Given the description of an element on the screen output the (x, y) to click on. 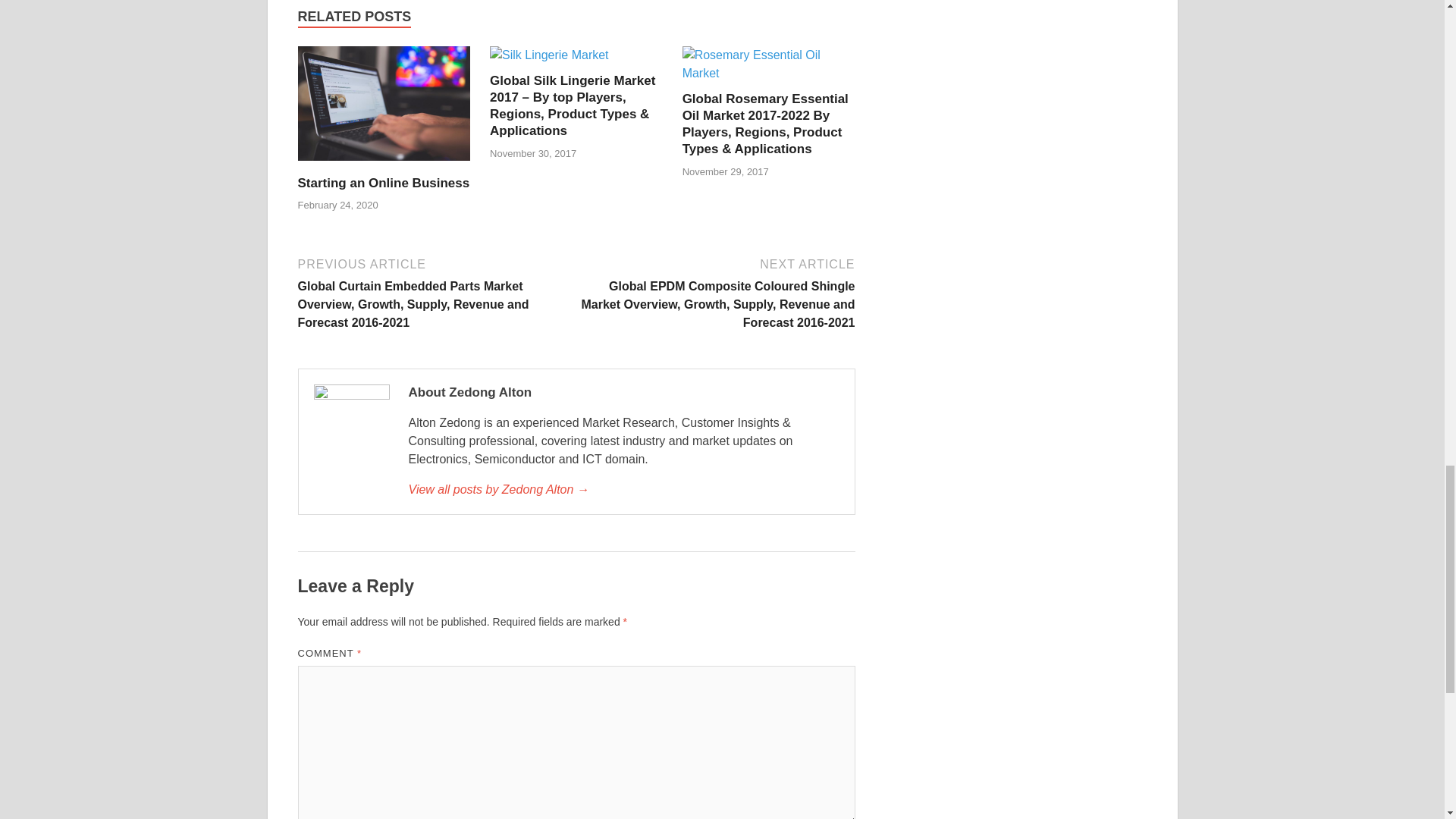
Starting an Online Business (382, 183)
Starting an Online Business (383, 164)
Zedong Alton (622, 489)
Starting an Online Business (382, 183)
